Given the description of an element on the screen output the (x, y) to click on. 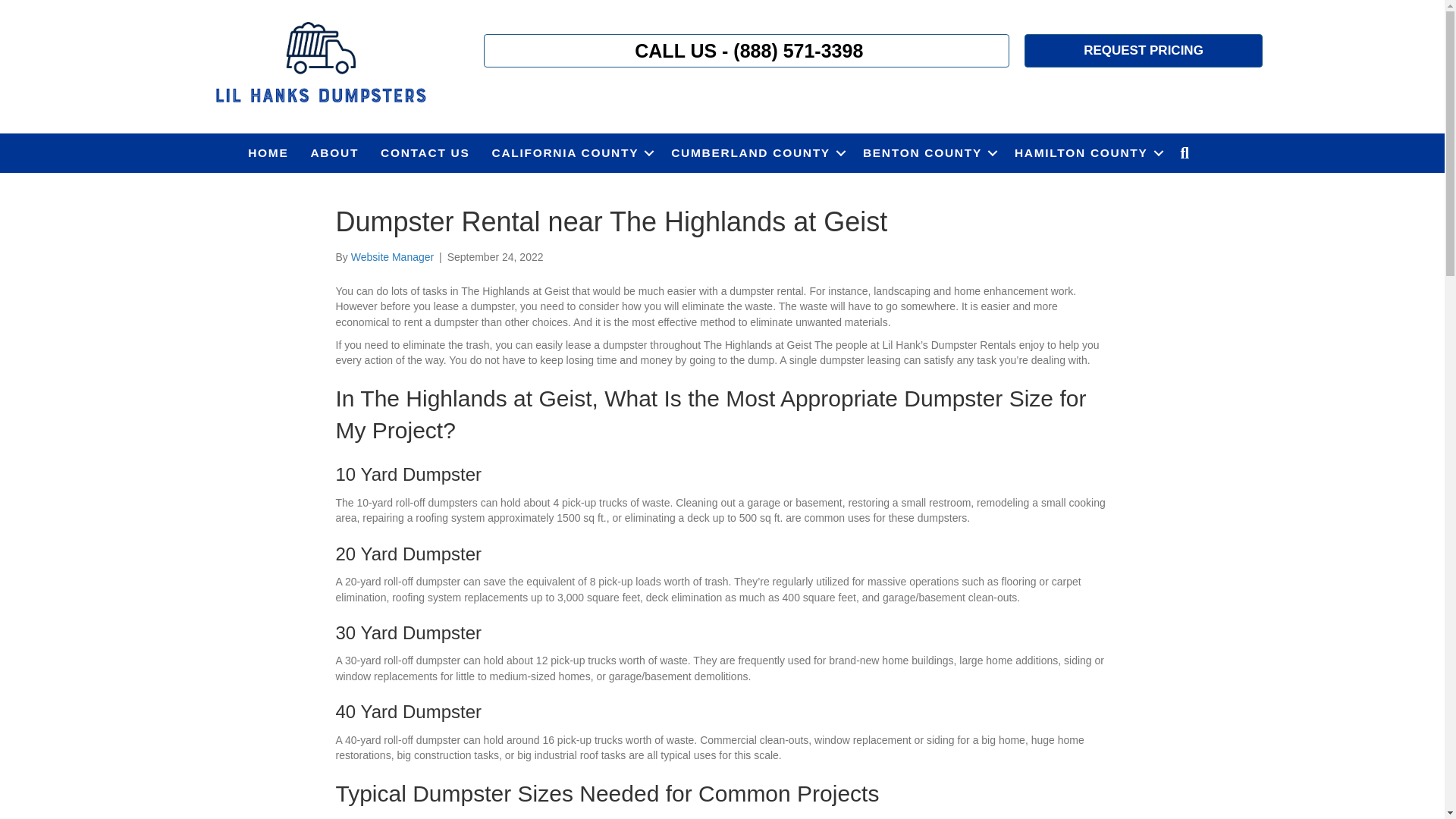
CONTACT US (424, 152)
Lil Hanks (319, 64)
HOME (267, 152)
ABOUT (334, 152)
CUMBERLAND COUNTY (756, 152)
BENTON COUNTY (927, 152)
REQUEST PRICING (1144, 50)
CALIFORNIA COUNTY (571, 152)
HAMILTON COUNTY (1086, 152)
